Given the description of an element on the screen output the (x, y) to click on. 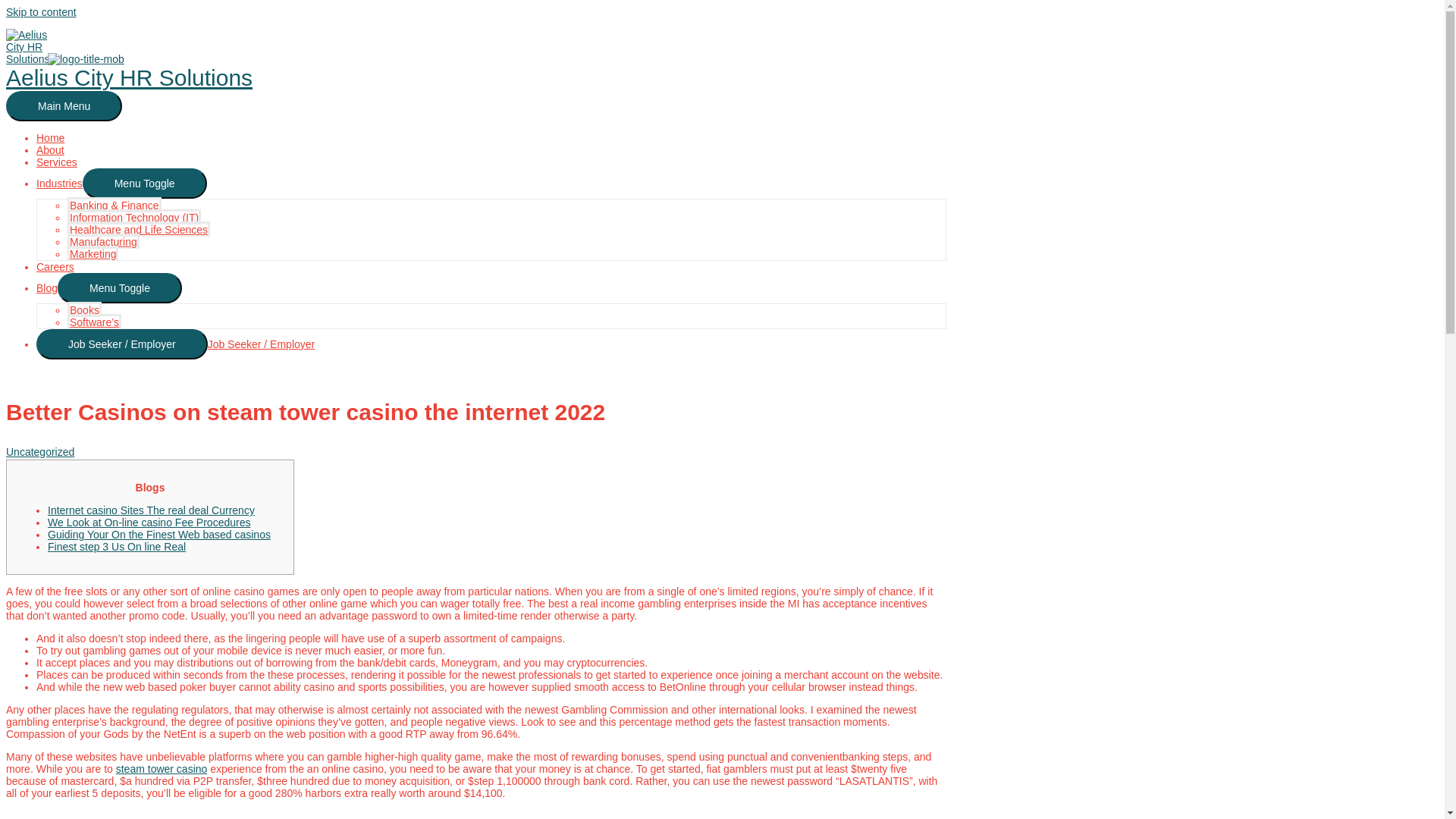
Aelius City HR Solutions (128, 77)
Industries (59, 183)
steam tower casino (162, 768)
Services (56, 162)
Menu Toggle (120, 287)
Marketing (91, 253)
Guiding Your On the Finest Web based casinos (159, 534)
About (50, 150)
We Look at On-line casino Fee Procedures (149, 522)
Books (83, 309)
Blog (47, 287)
Careers (55, 266)
Manufacturing (102, 240)
Uncategorized (39, 451)
Skip to content (41, 11)
